Given the description of an element on the screen output the (x, y) to click on. 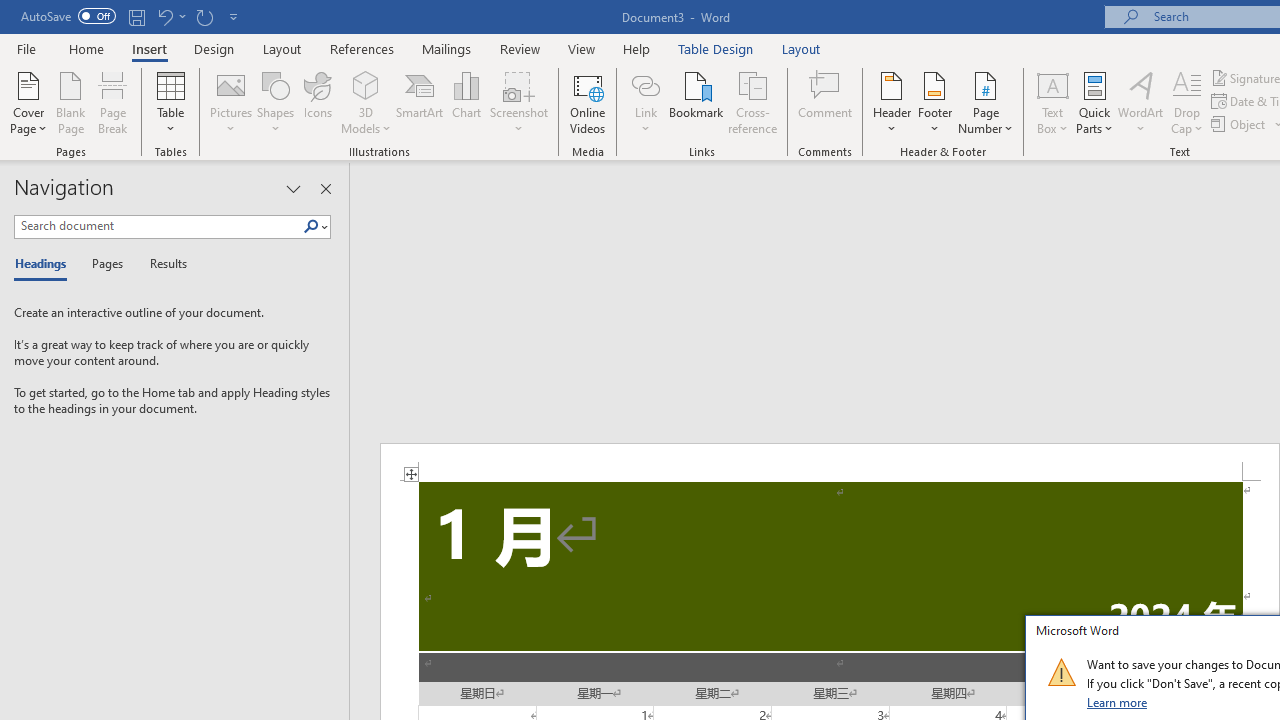
File Tab (26, 48)
View (582, 48)
Search document (157, 226)
Link (645, 102)
Close pane (325, 188)
Page Break (113, 102)
Screenshot (518, 102)
Blank Page (70, 102)
Pictures (230, 102)
Drop Cap (1187, 102)
Quick Access Toolbar (131, 16)
Comment (825, 102)
